Given the description of an element on the screen output the (x, y) to click on. 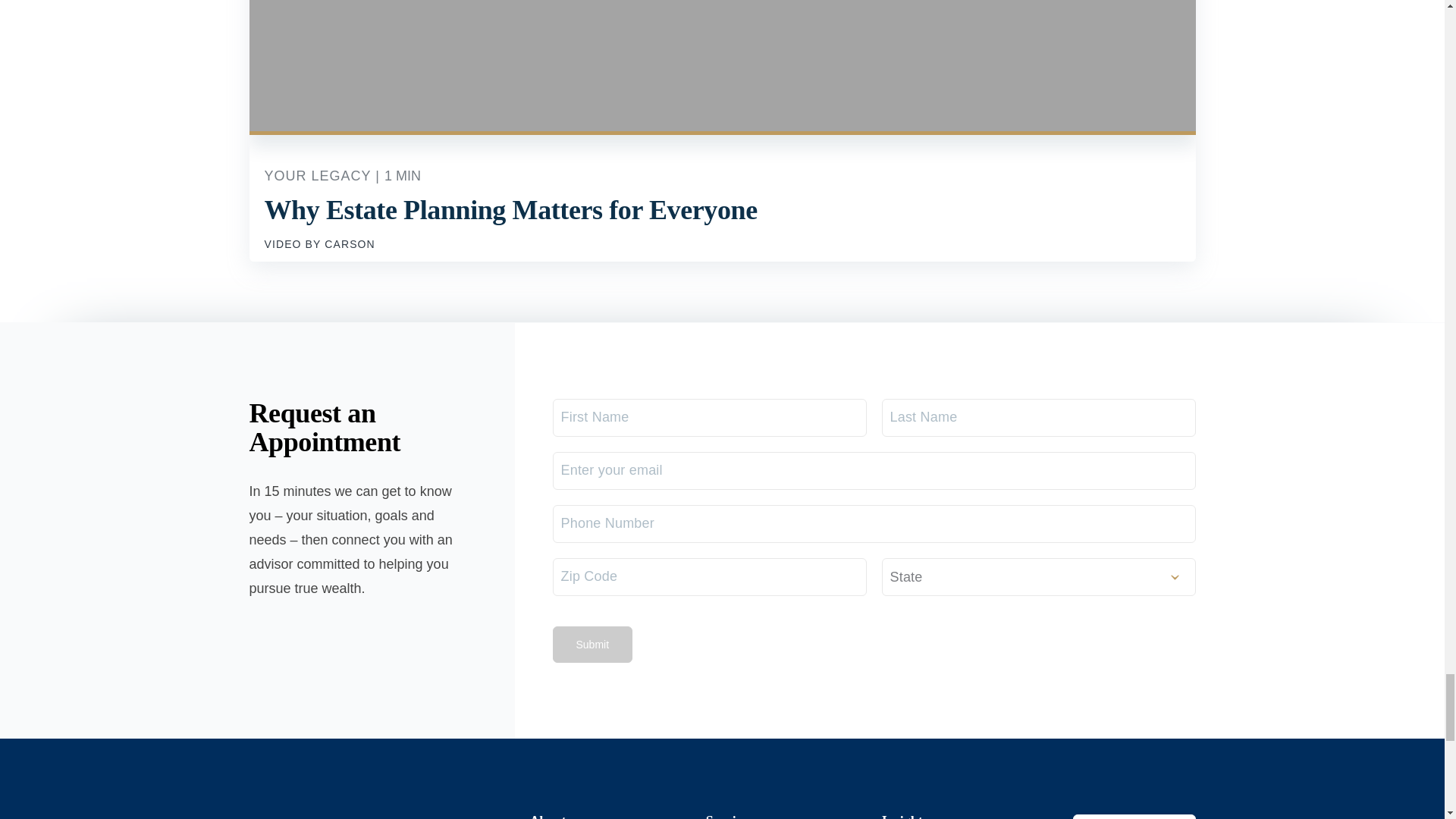
Submit (591, 644)
